Given the description of an element on the screen output the (x, y) to click on. 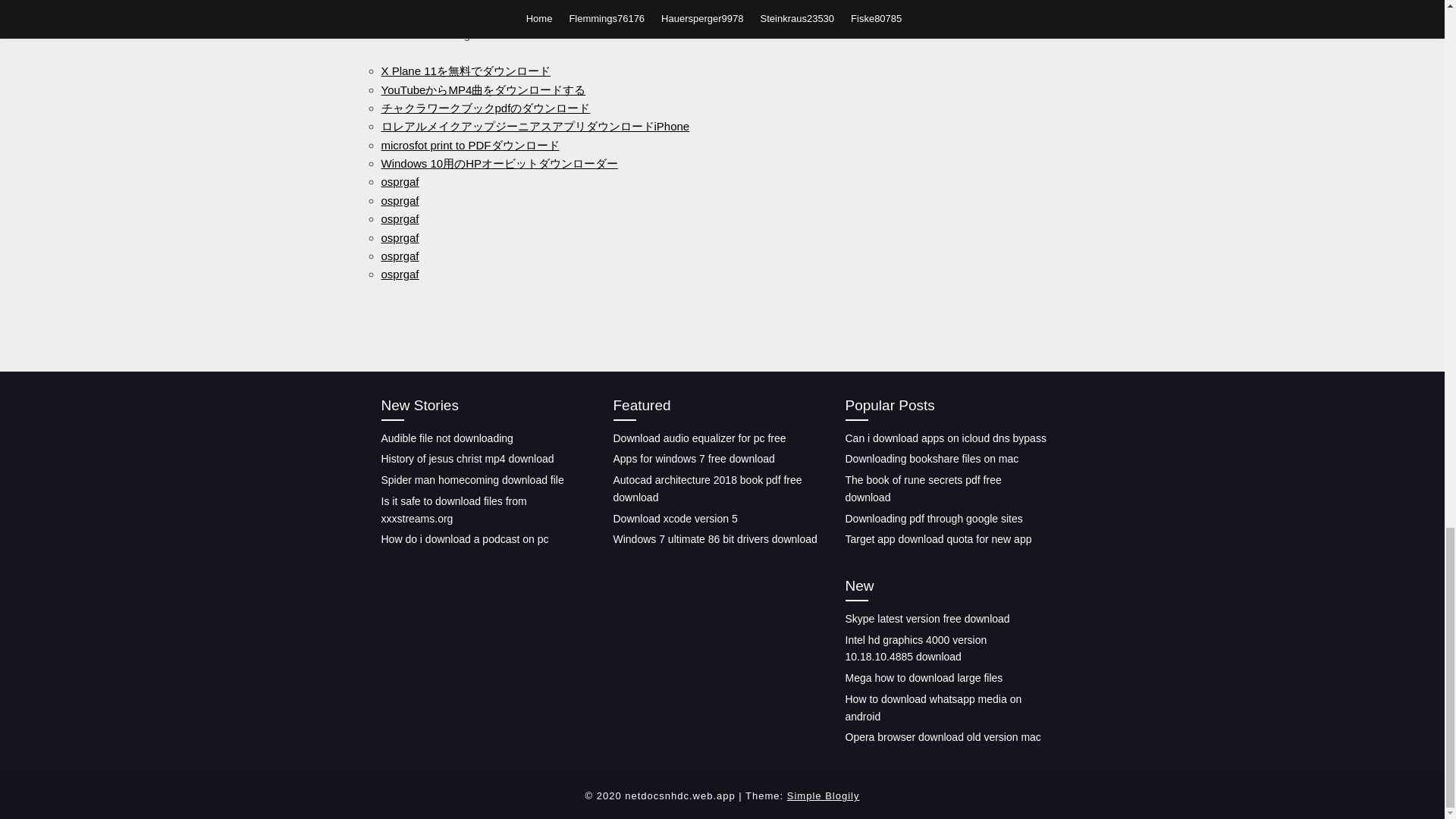
osprgaf (399, 237)
Is it safe to download files from xxxstreams.org (452, 509)
Can i download apps on icloud dns bypass (944, 437)
History of jesus christ mp4 download (466, 458)
Skype latest version free download (926, 618)
Downloading bookshare files on mac (930, 458)
How do i download a podcast on pc (464, 539)
Intel hd graphics 4000 version 10.18.10.4885 download (915, 648)
Target app download quota for new app (937, 539)
osprgaf (399, 273)
Download xcode version 5 (674, 517)
Download audio equalizer for pc free (699, 437)
osprgaf (399, 200)
Apps for windows 7 free download (693, 458)
osprgaf (399, 255)
